Given the description of an element on the screen output the (x, y) to click on. 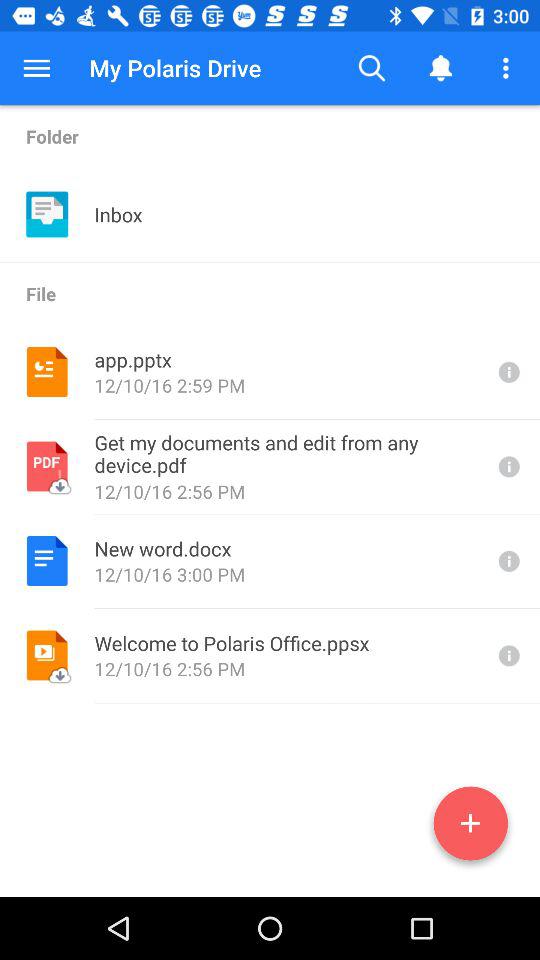
more information (507, 466)
